Given the description of an element on the screen output the (x, y) to click on. 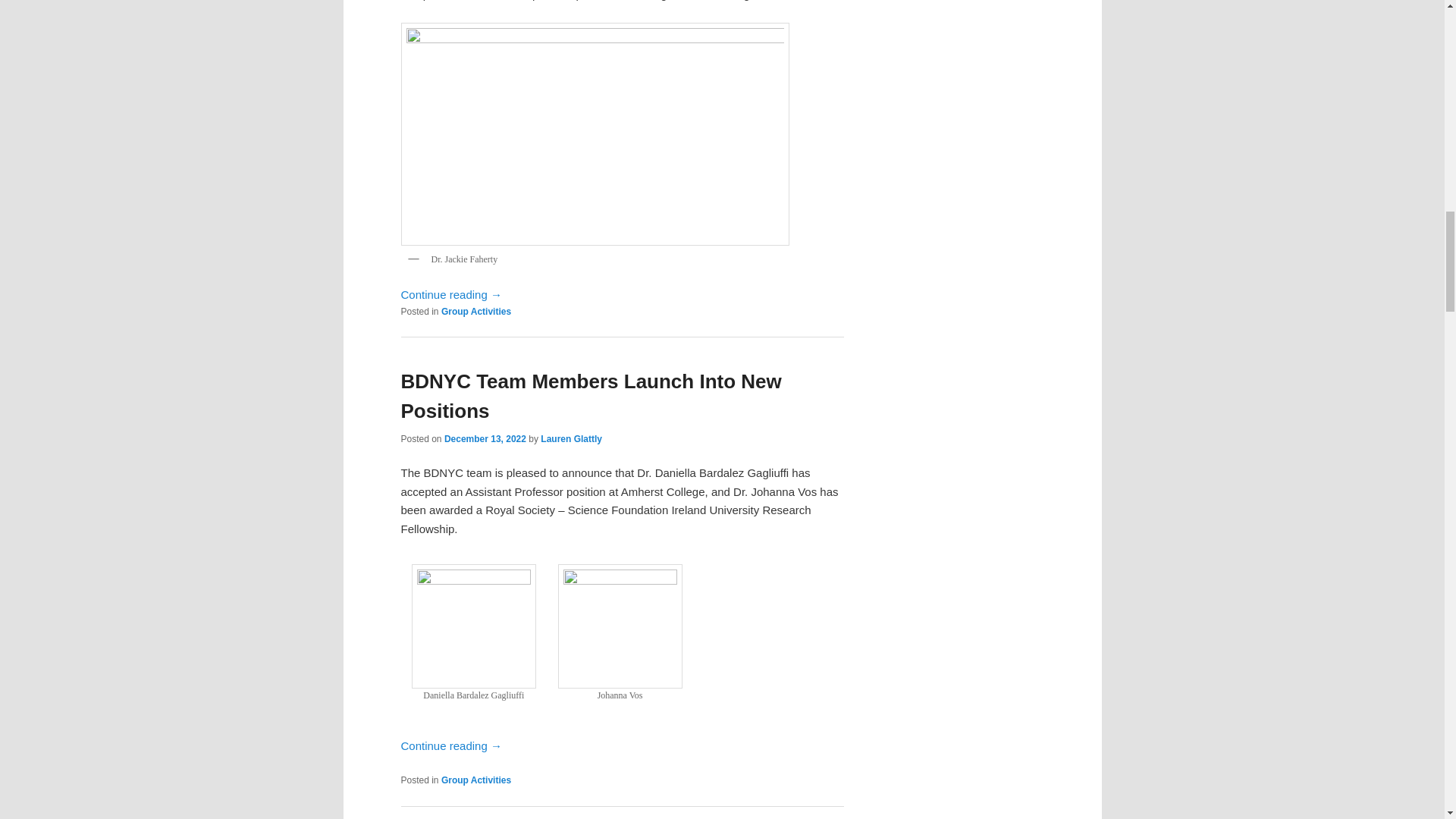
Group Activities (476, 311)
December 13, 2022 (484, 439)
Lauren Glattly (571, 439)
BDNYC Team Members Launch Into New Positions (590, 396)
3:35 pm (484, 439)
View all posts by Lauren Glattly (571, 439)
